Given the description of an element on the screen output the (x, y) to click on. 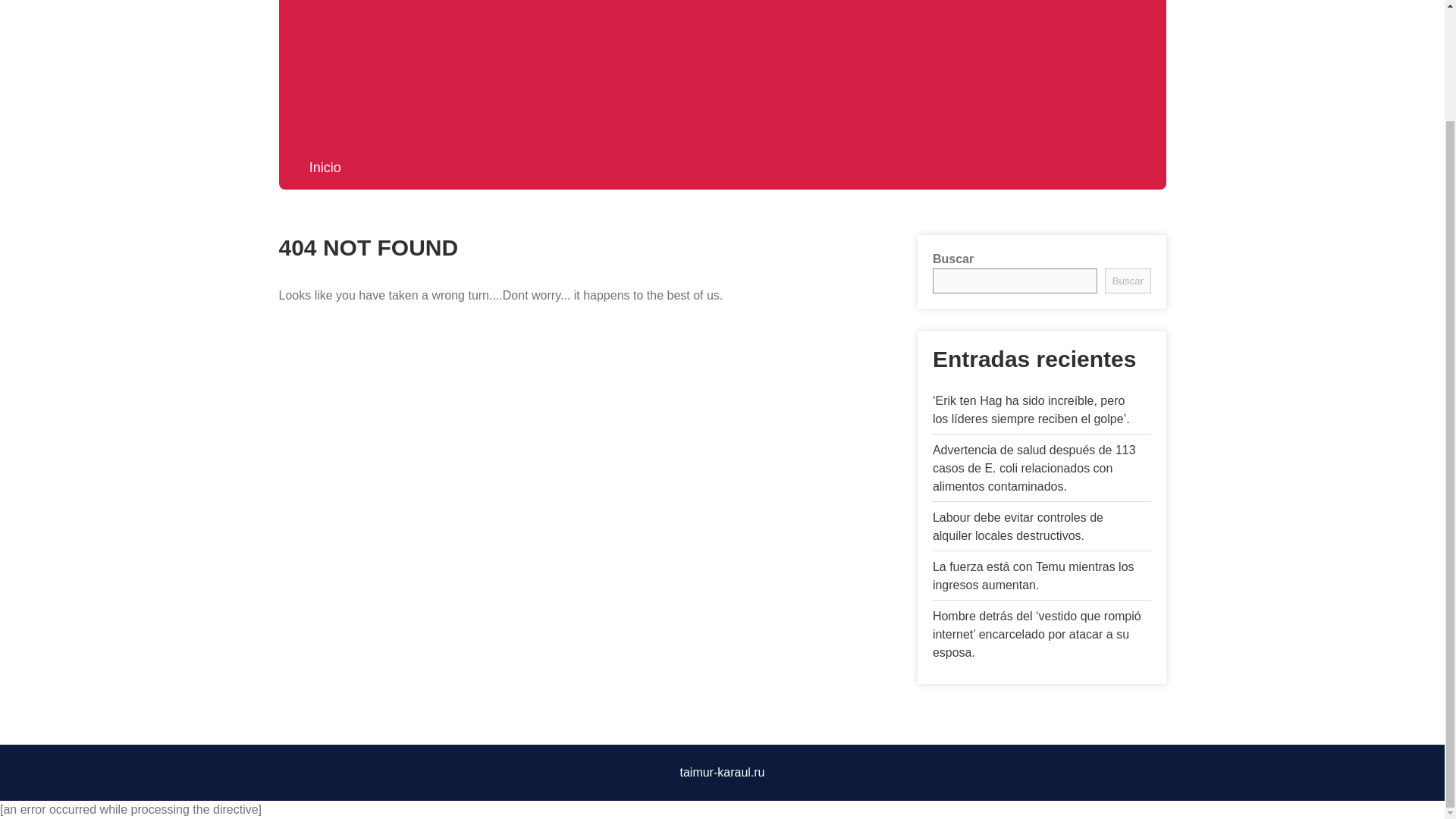
Advertisement (722, 69)
Inicio (324, 167)
Buscar (1127, 280)
